Given the description of an element on the screen output the (x, y) to click on. 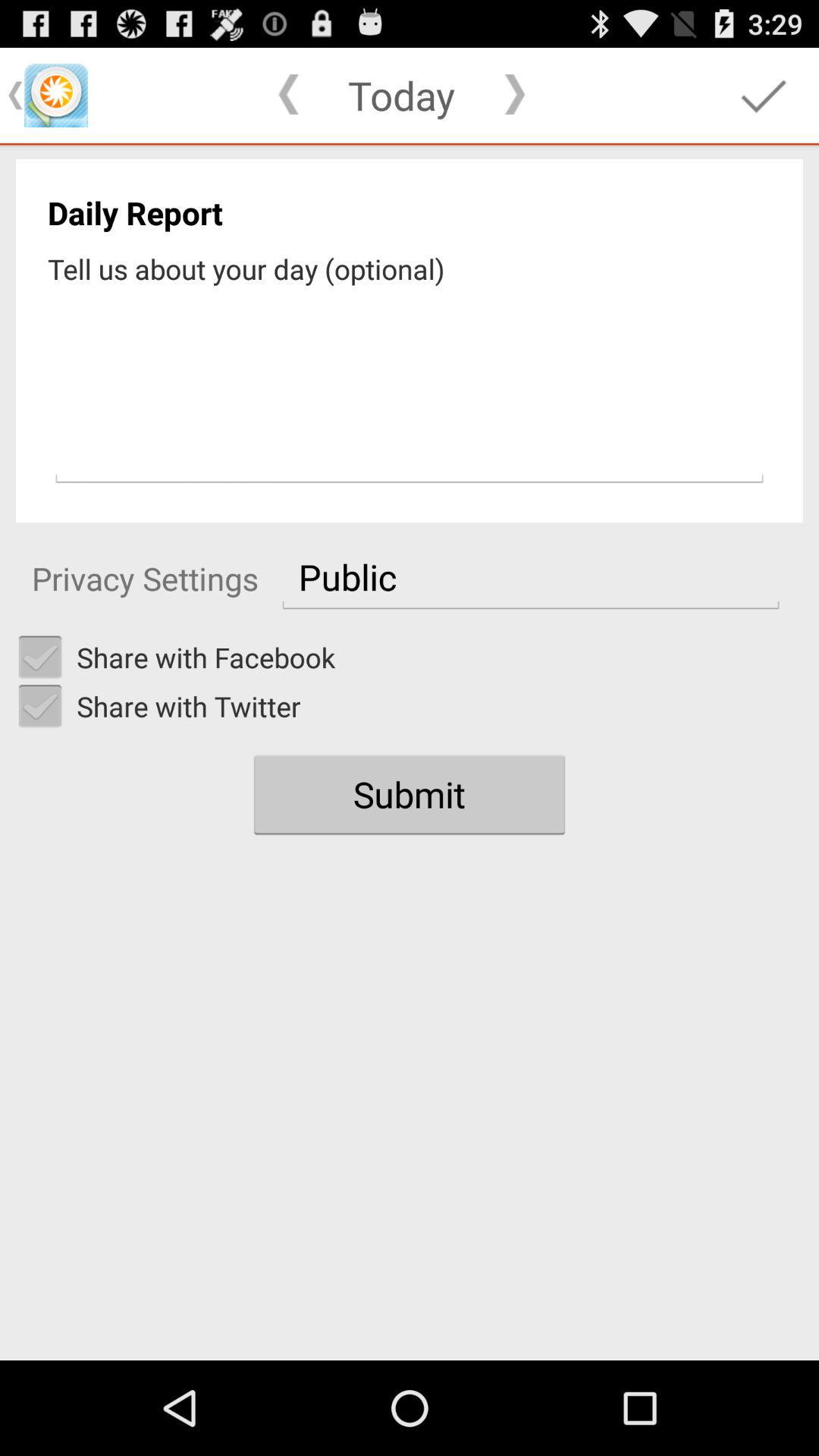
input comment (409, 388)
